Given the description of an element on the screen output the (x, y) to click on. 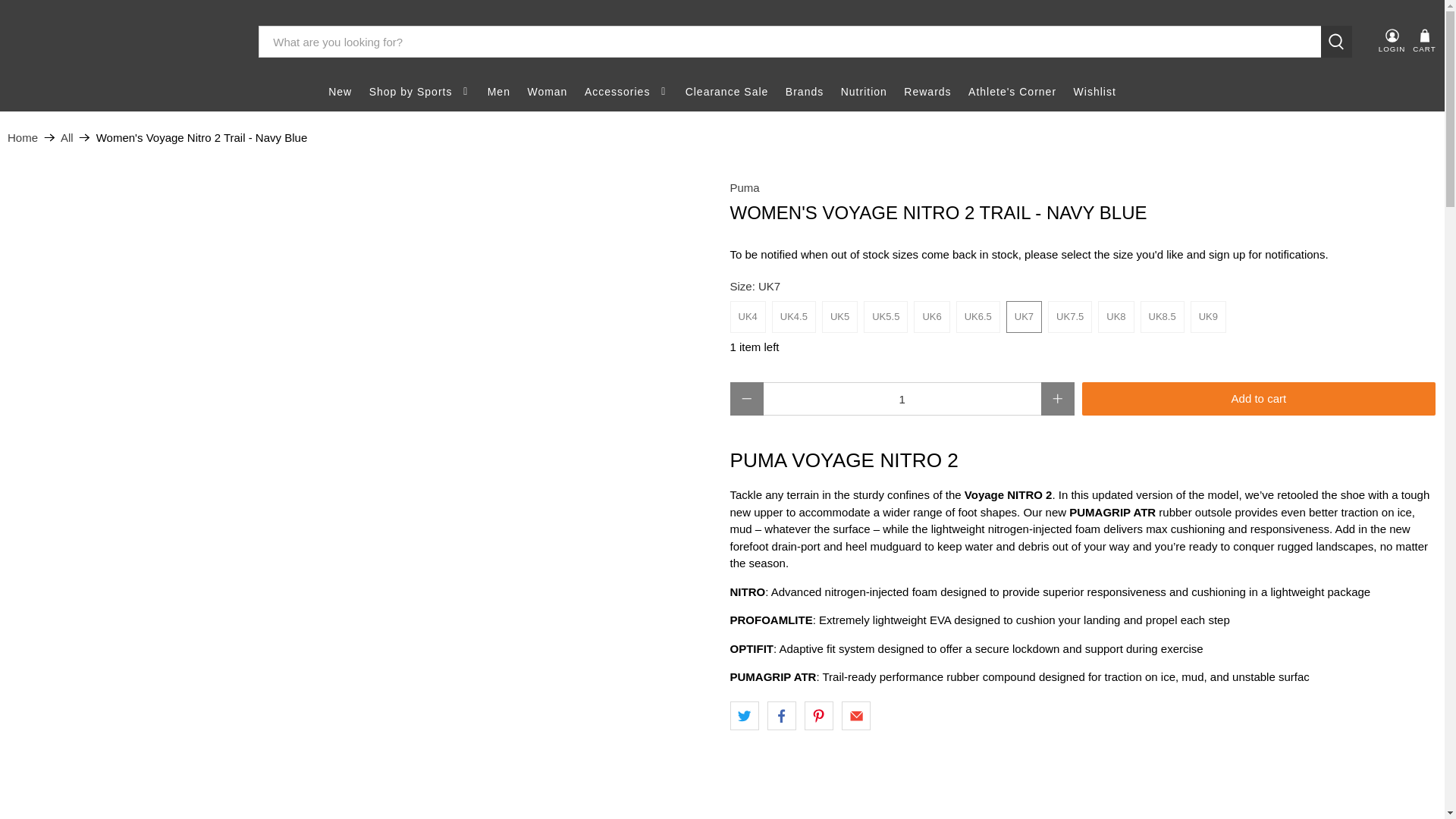
1 (901, 398)
Puma (743, 187)
Share this on Facebook (781, 715)
Clearance Sale (726, 91)
Email this to a friend (855, 715)
The Athlete's Foot (121, 42)
Share this on Pinterest (818, 715)
Woman (546, 91)
New (340, 91)
Shop by Sports (419, 91)
